Given the description of an element on the screen output the (x, y) to click on. 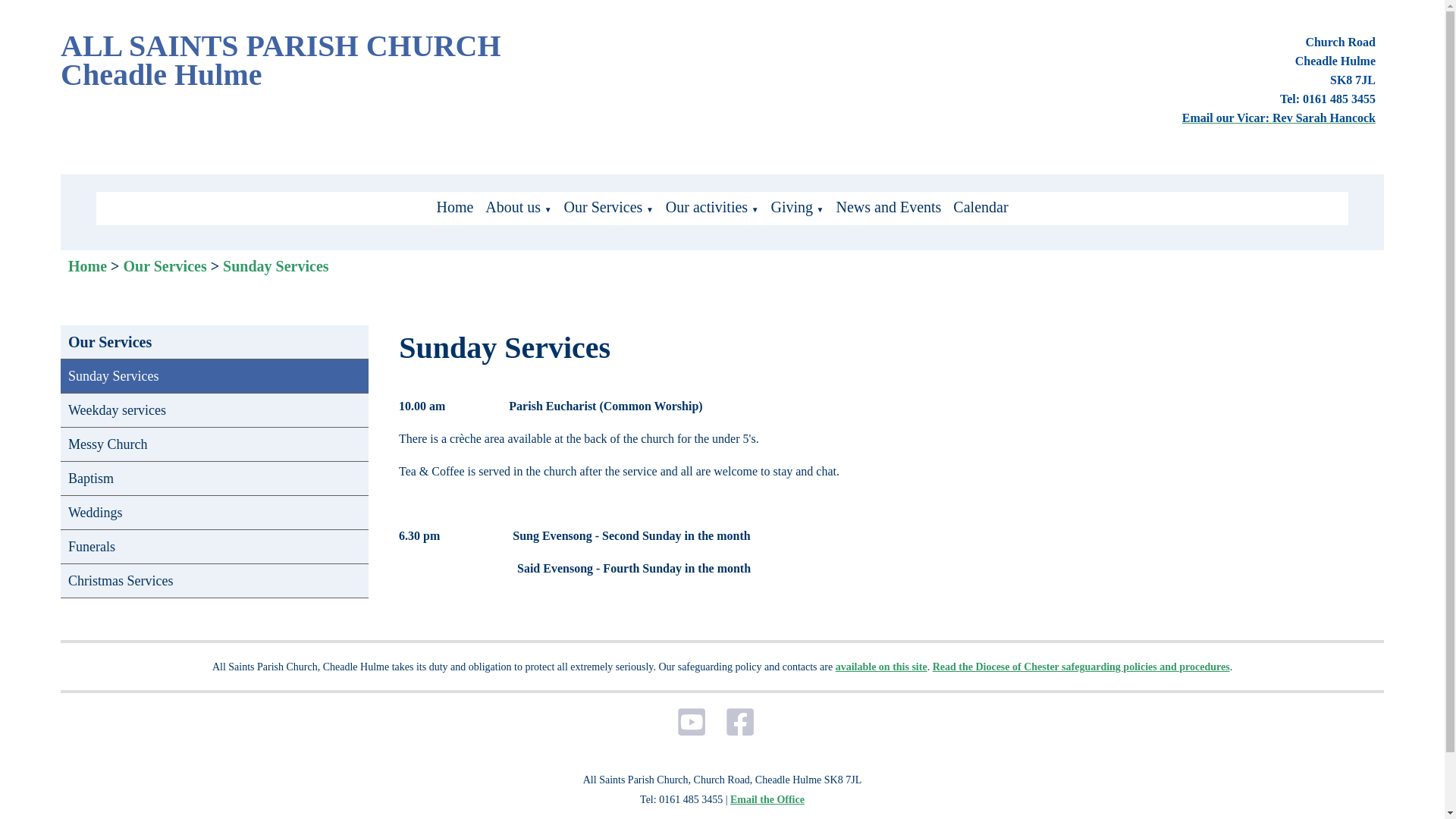
Email our Vicar: Rev Sarah Hancock (1278, 117)
